Given the description of an element on the screen output the (x, y) to click on. 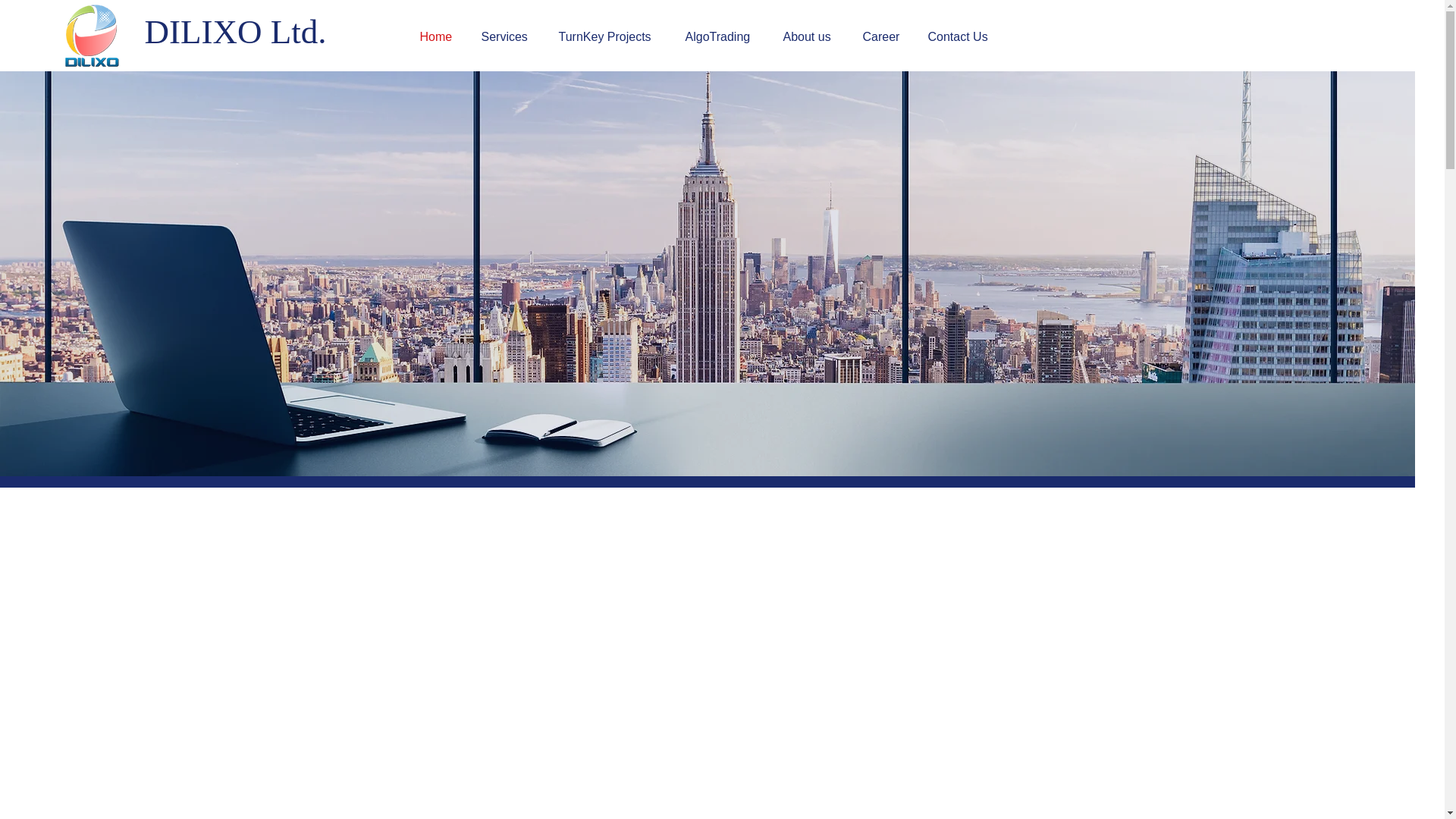
About us (811, 37)
AlgoTrading (721, 37)
Contact Us (961, 37)
TurnKey Projects (610, 37)
Home (437, 37)
Career (882, 37)
Services (508, 37)
